Given the description of an element on the screen output the (x, y) to click on. 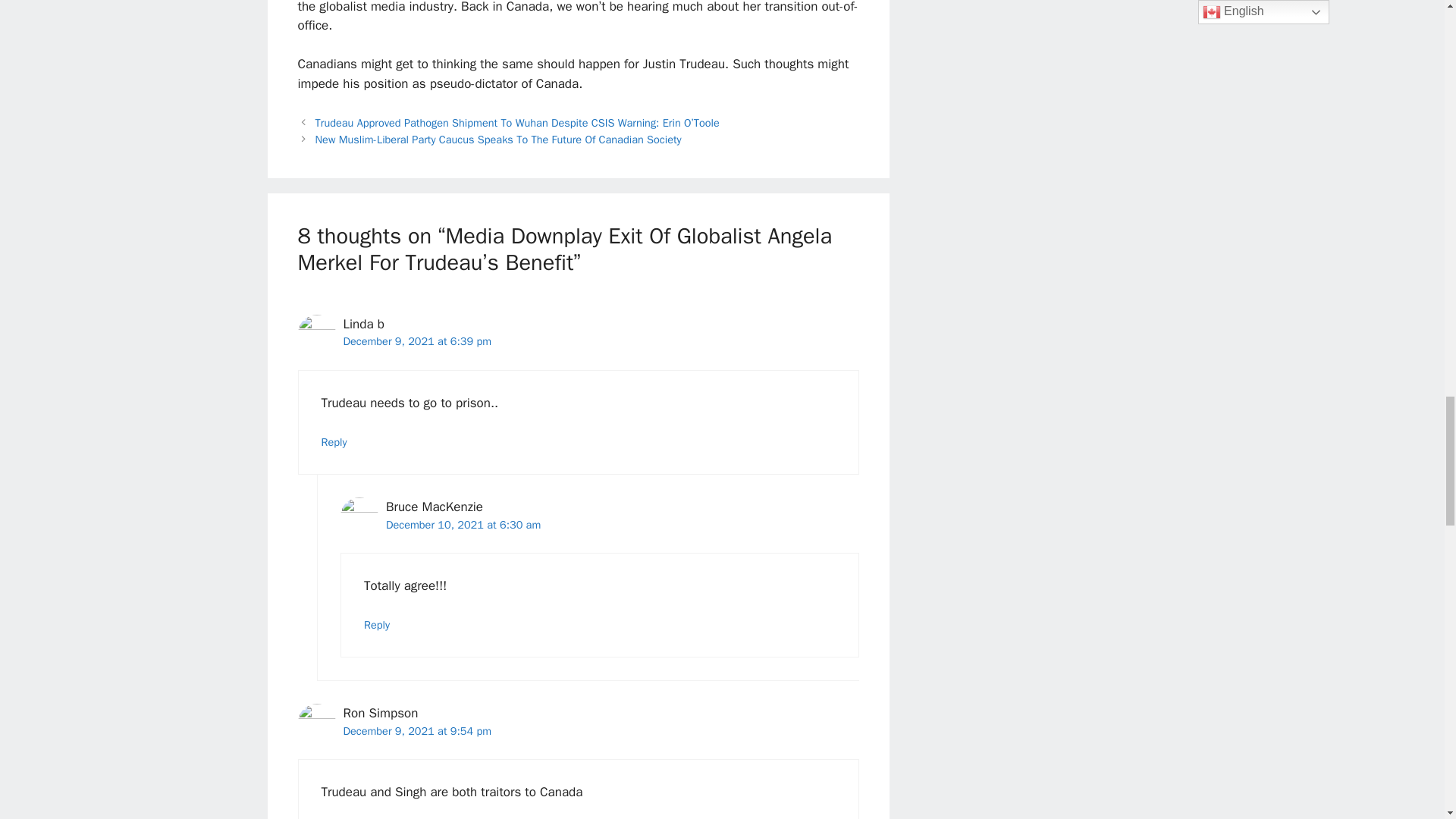
December 9, 2021 at 9:54 pm (417, 730)
Reply (334, 441)
December 9, 2021 at 6:39 pm (417, 341)
Reply (377, 624)
December 10, 2021 at 6:30 am (462, 524)
